Given the description of an element on the screen output the (x, y) to click on. 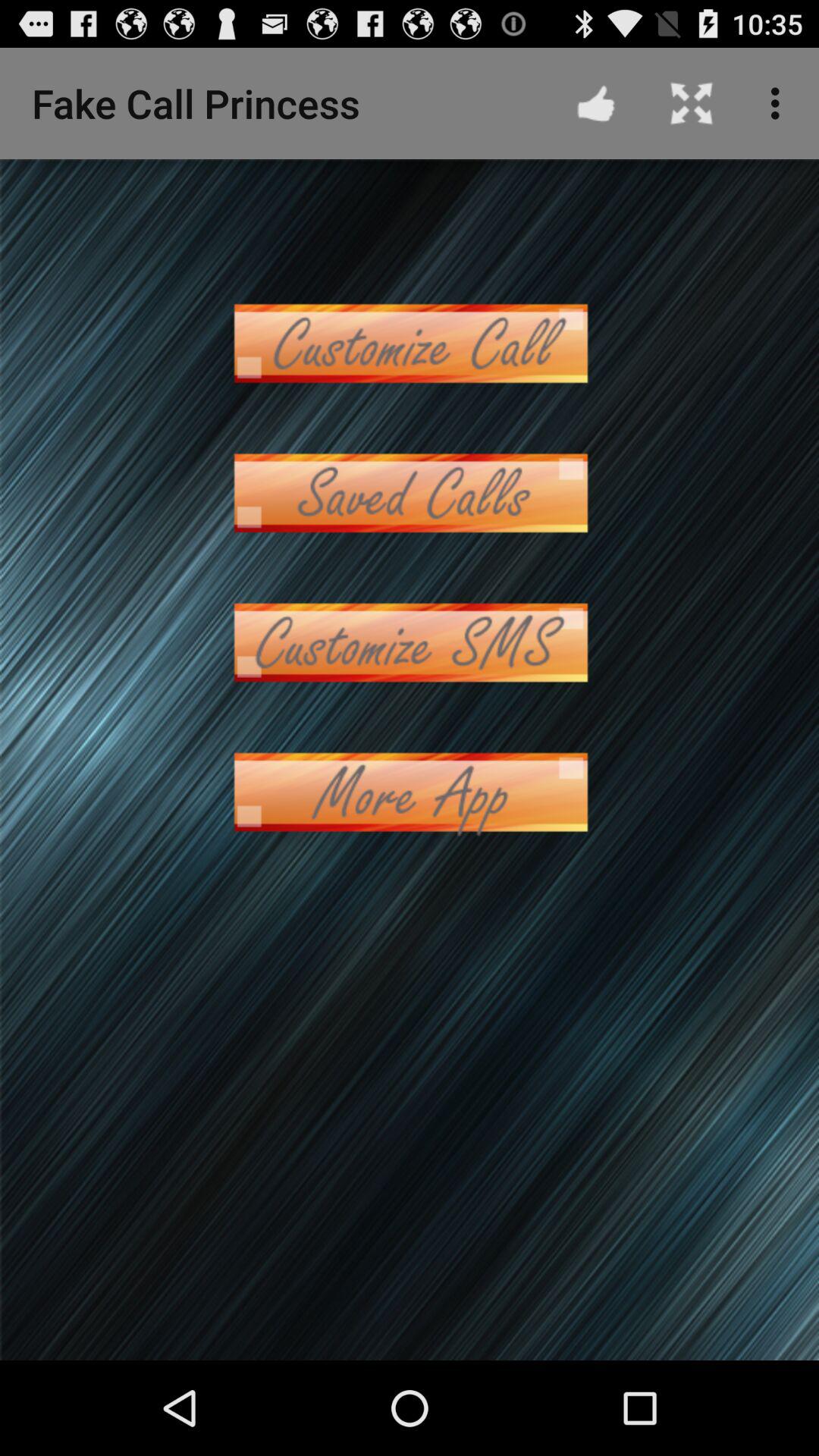
check saved calls (409, 492)
